Given the description of an element on the screen output the (x, y) to click on. 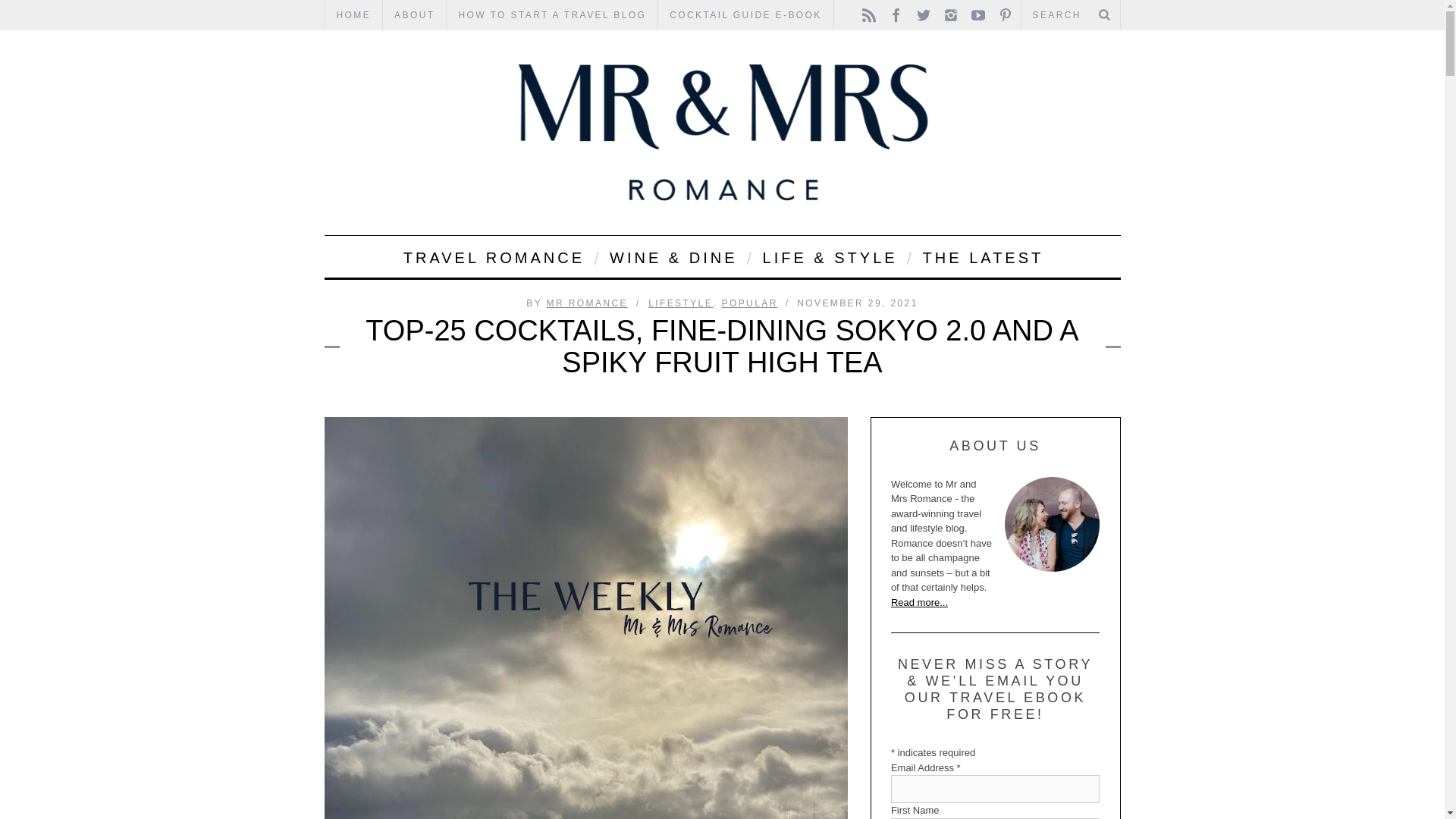
Mr and Mrs Romance - Couples travel and lifestyle blog (722, 132)
Search (1070, 15)
